Given the description of an element on the screen output the (x, y) to click on. 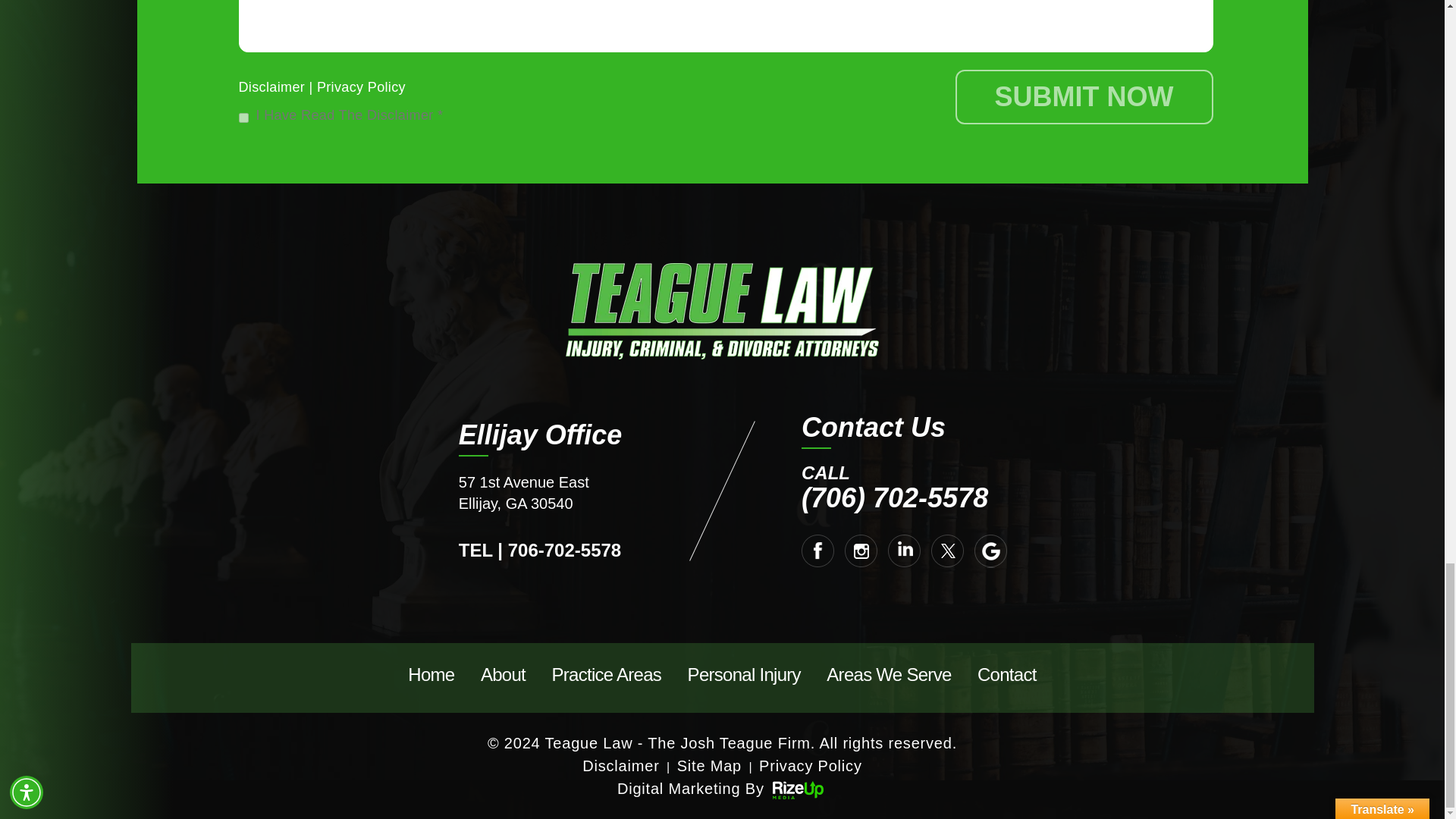
Submit Now (1083, 96)
